Given the description of an element on the screen output the (x, y) to click on. 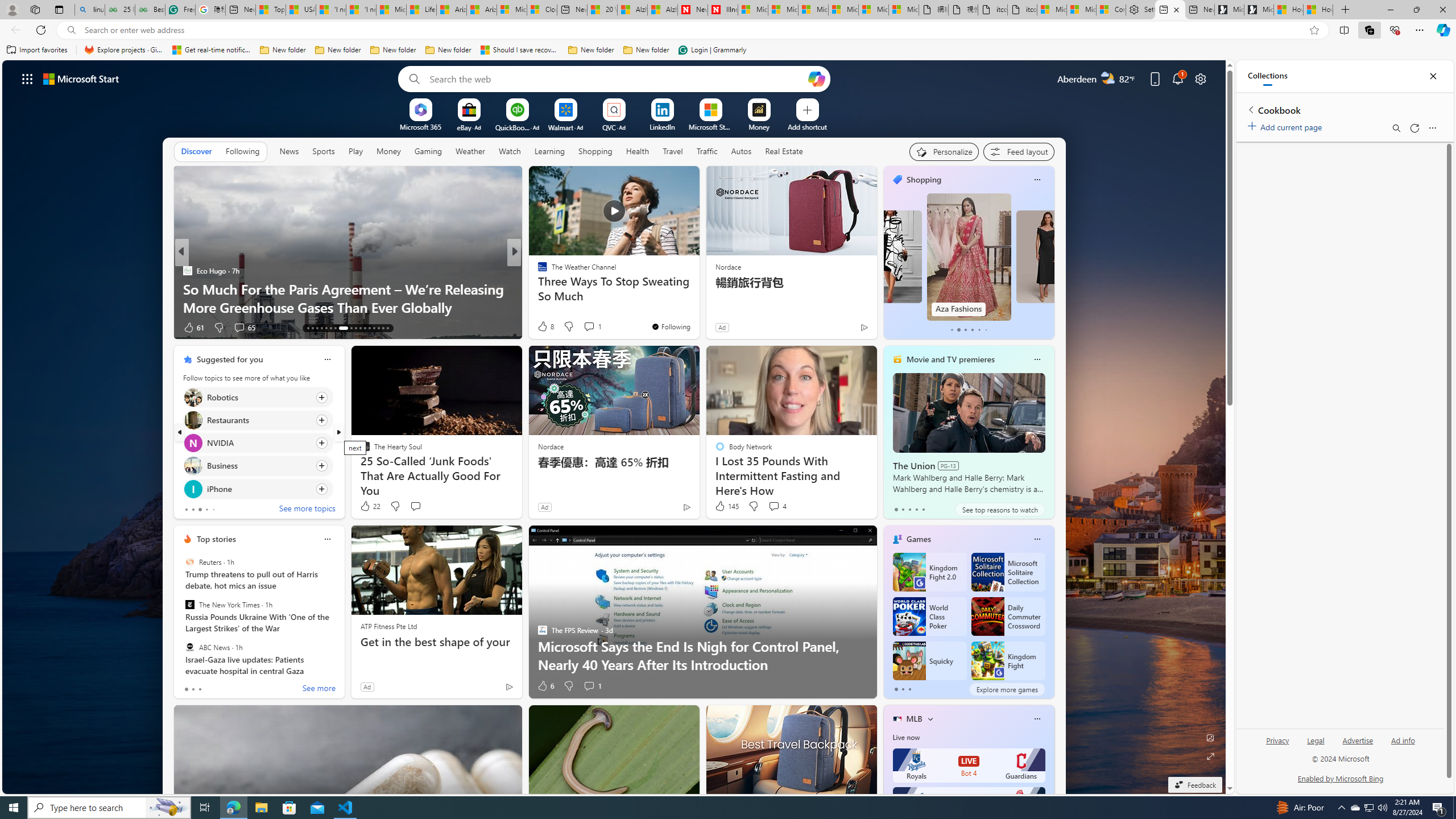
tab-1 (903, 689)
More options menu (1432, 127)
Enter your search term (617, 78)
itconcepthk.com/projector_solutions.mp4 (1022, 9)
You're following The Weather Channel (670, 326)
